Given the description of an element on the screen output the (x, y) to click on. 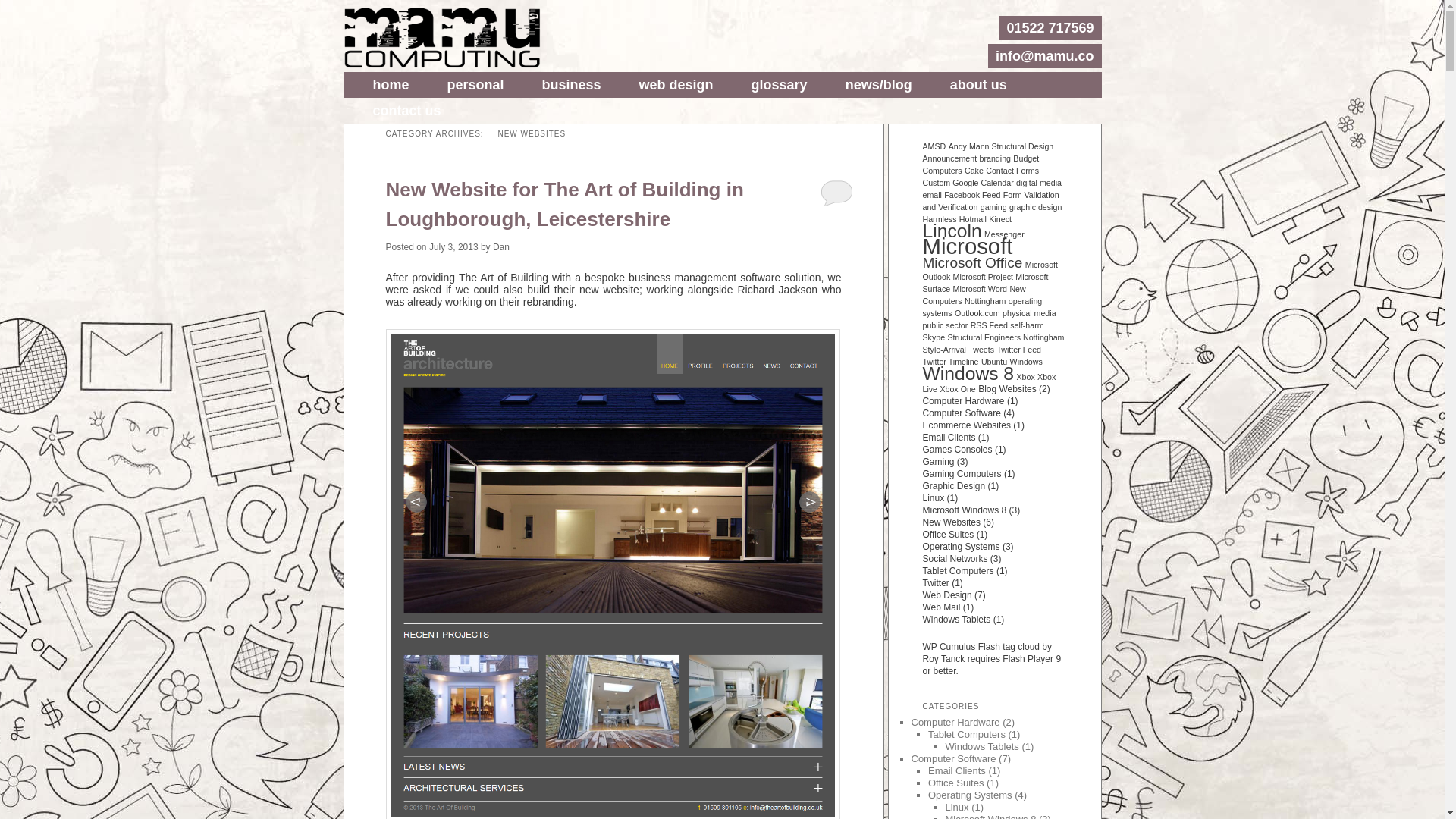
personal (475, 84)
web design (675, 84)
View all posts by Dan (501, 246)
contact us (406, 110)
3:56 pm (454, 246)
glossary (779, 84)
about us (978, 84)
home (390, 84)
Mamu Computing - Click to go to homepage (441, 37)
business (571, 84)
